Given the description of an element on the screen output the (x, y) to click on. 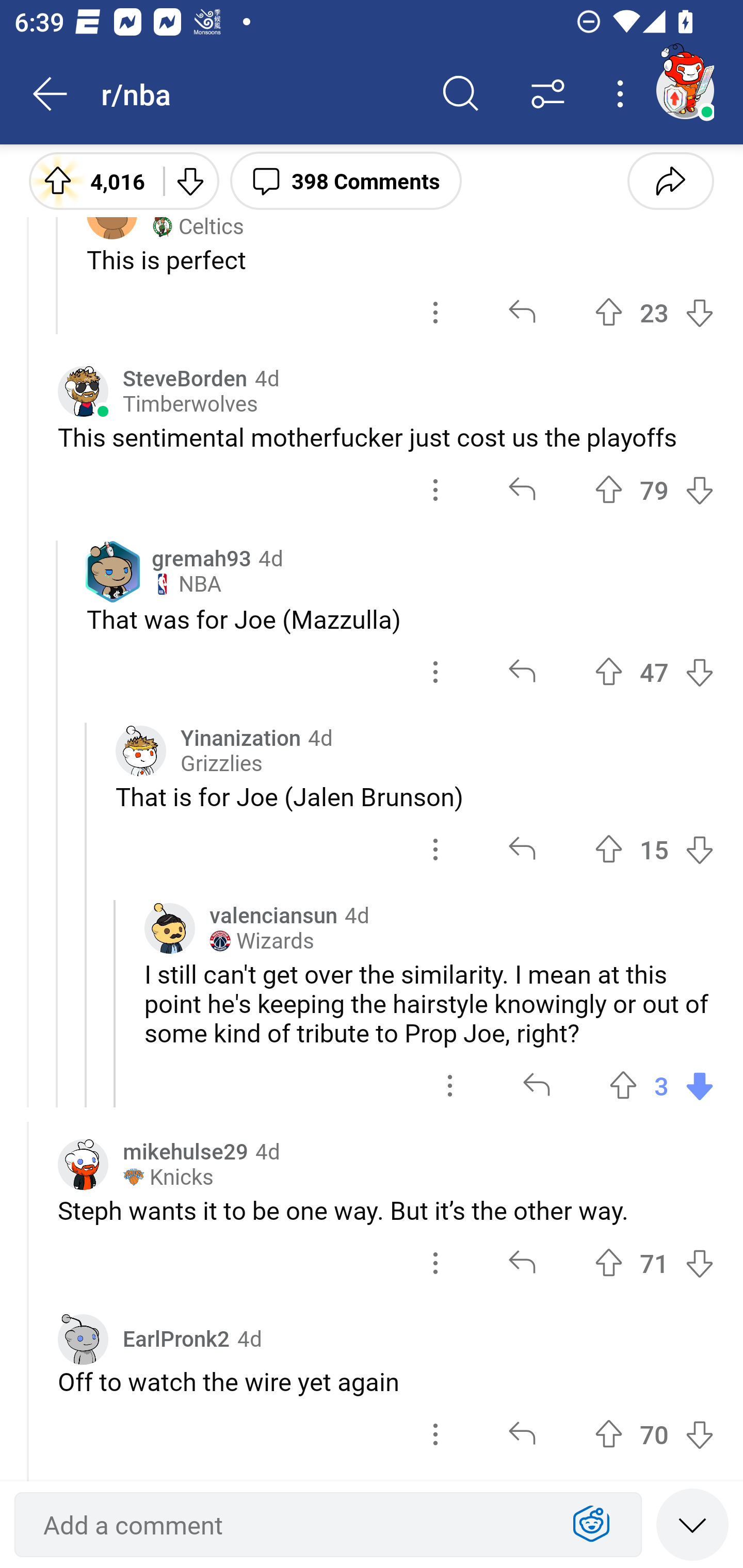
Back (50, 93)
TestAppium002 account (685, 90)
Search comments (460, 93)
Sort comments (547, 93)
More options (623, 93)
r/nba (259, 92)
Upvote 4,016 (88, 180)
Downvote (189, 180)
398 Comments (346, 180)
Share (670, 180)
￼ Celtics (197, 226)
This is perfect (400, 259)
options (435, 311)
Upvote 23 23 votes Downvote (654, 311)
Custom avatar (82, 391)
Timberwolves (190, 404)
options (435, 489)
Upvote 79 79 votes Downvote (654, 489)
￼ NBA (186, 583)
That was for Joe (Mazzulla) (400, 619)
options (435, 672)
Upvote 47 47 votes Downvote (654, 672)
Custom avatar (140, 750)
Grizzlies (221, 763)
That is for Joe (Jalen Brunson) (414, 796)
options (435, 849)
Upvote 15 15 votes Downvote (654, 849)
Custom avatar (169, 928)
￼ Wizards (261, 940)
options (449, 1084)
Upvote 3 3 votes Downvote (661, 1084)
Custom avatar (82, 1164)
￼ Knicks (167, 1177)
options (435, 1263)
Upvote 71 71 votes Downvote (654, 1263)
Custom avatar (82, 1338)
Off to watch the wire yet again (385, 1381)
options (435, 1434)
Upvote 70 70 votes Downvote (654, 1434)
Speed read (692, 1524)
Add a comment (291, 1524)
Show Expressions (590, 1524)
